Given the description of an element on the screen output the (x, y) to click on. 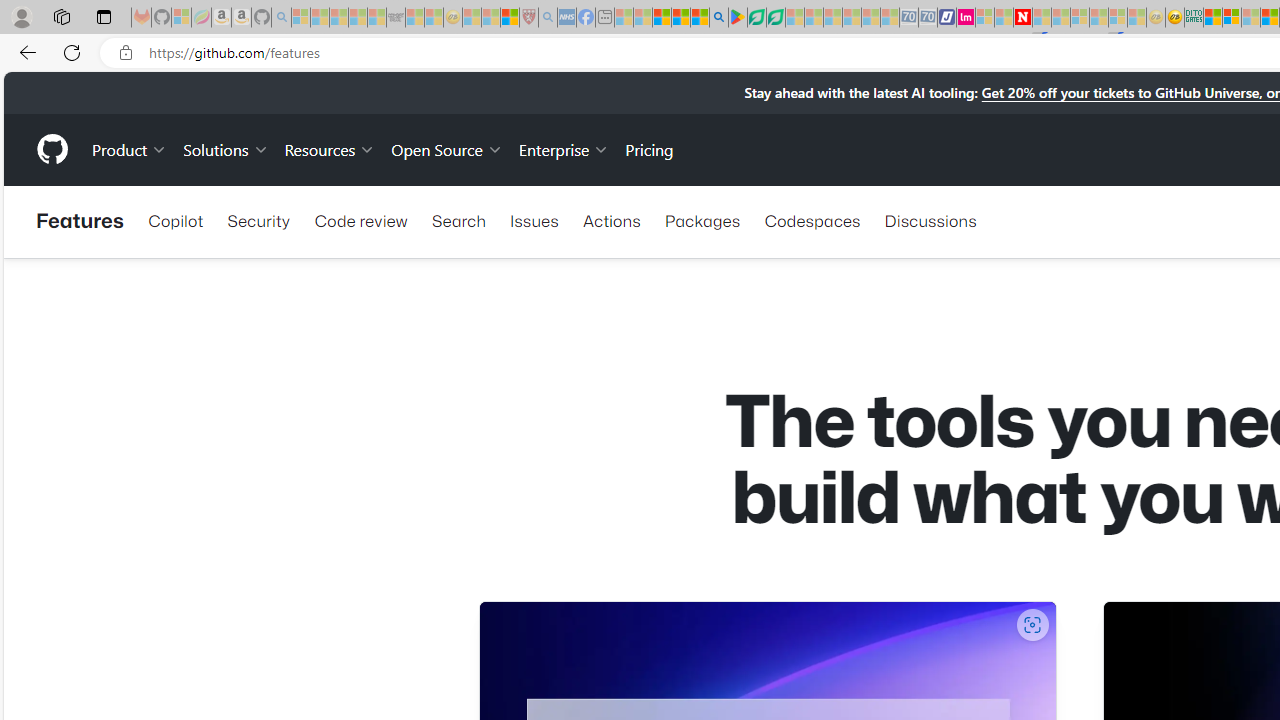
Solutions (225, 148)
Microsoft Word - consumer-privacy address update 2.2021 (775, 17)
